Given the description of an element on the screen output the (x, y) to click on. 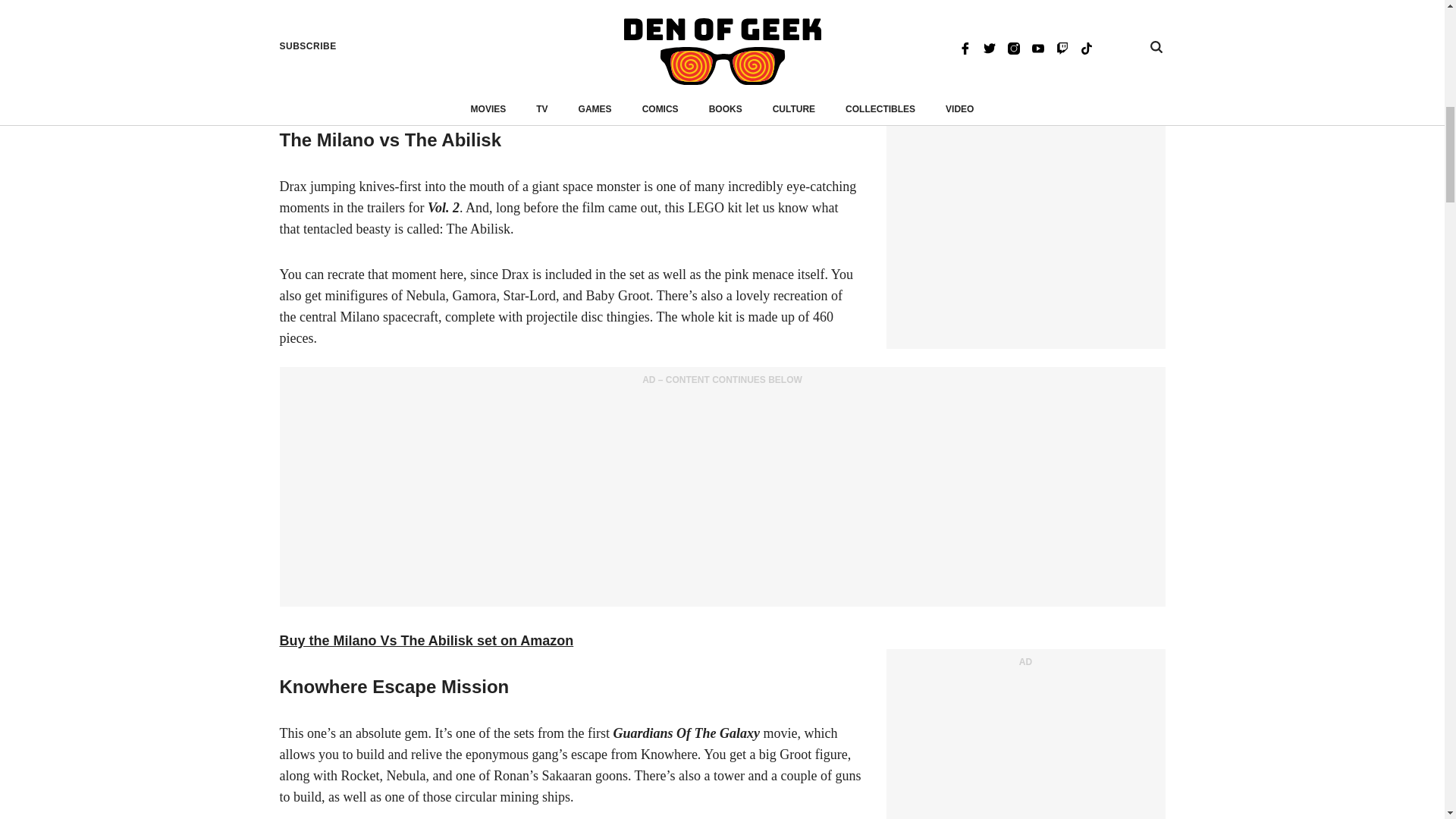
Buy the Milano Vs The Abilisk set on Amazon (426, 640)
